Given the description of an element on the screen output the (x, y) to click on. 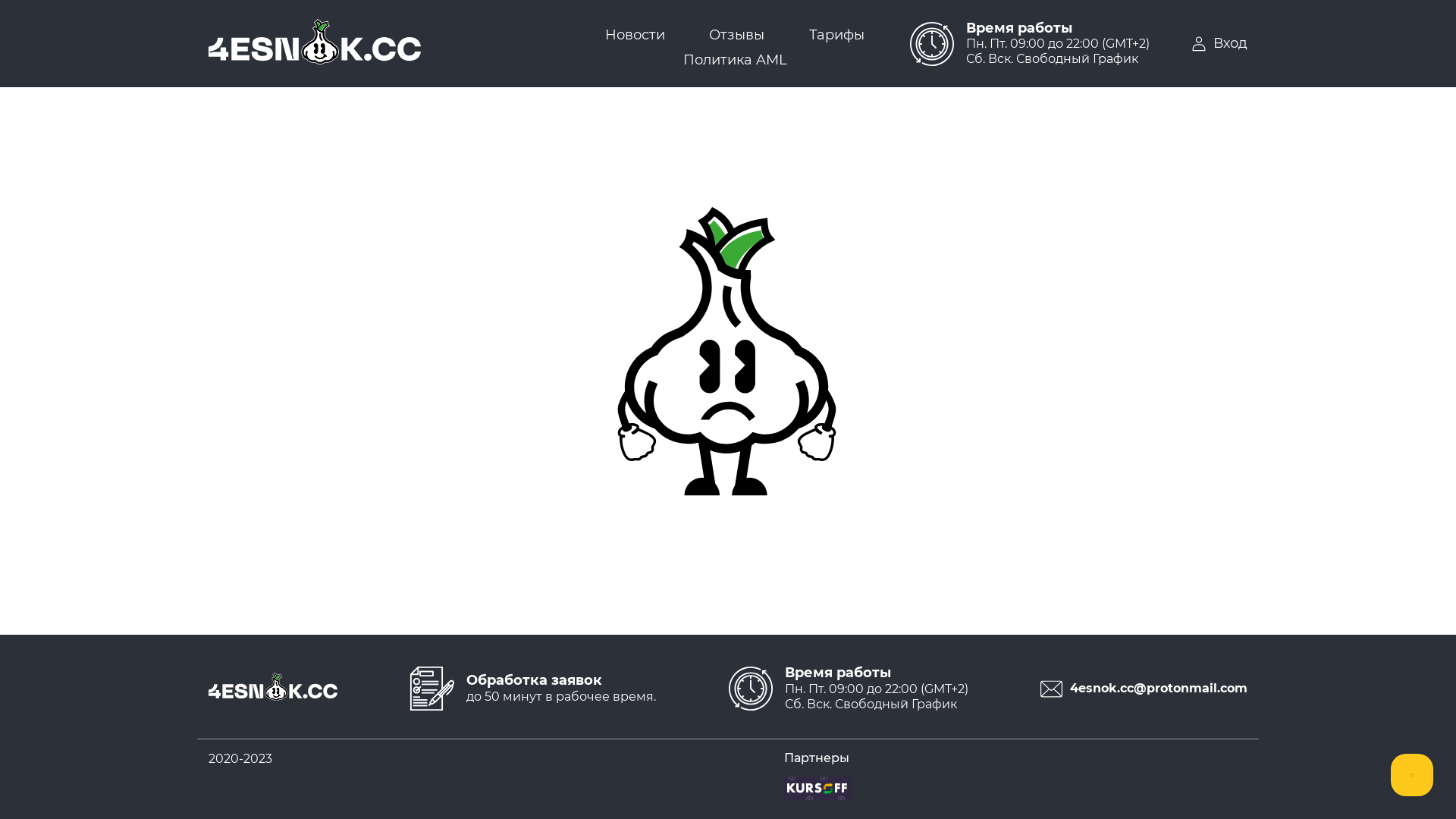
4esnok.cc@protonmail.com Element type: text (1137, 688)
